Given the description of an element on the screen output the (x, y) to click on. 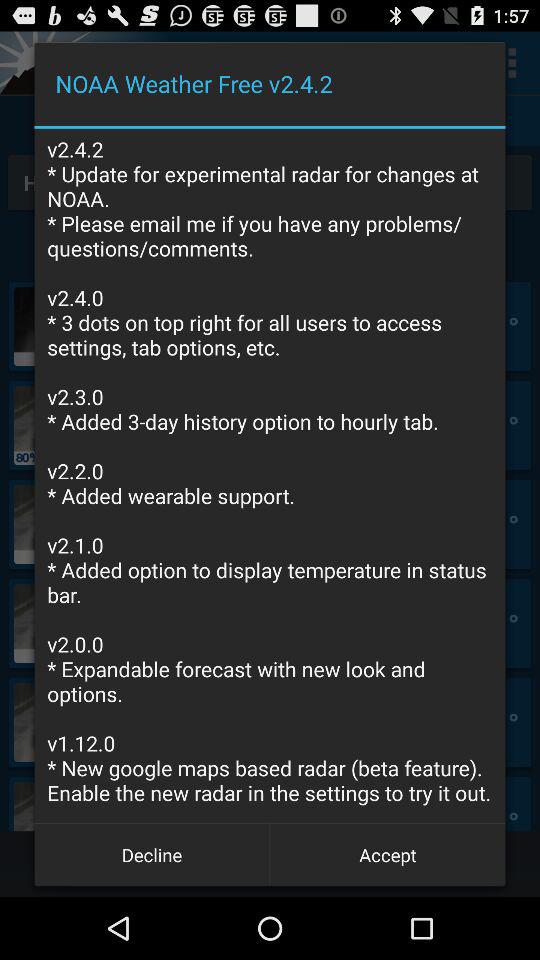
flip until the decline icon (151, 854)
